Given the description of an element on the screen output the (x, y) to click on. 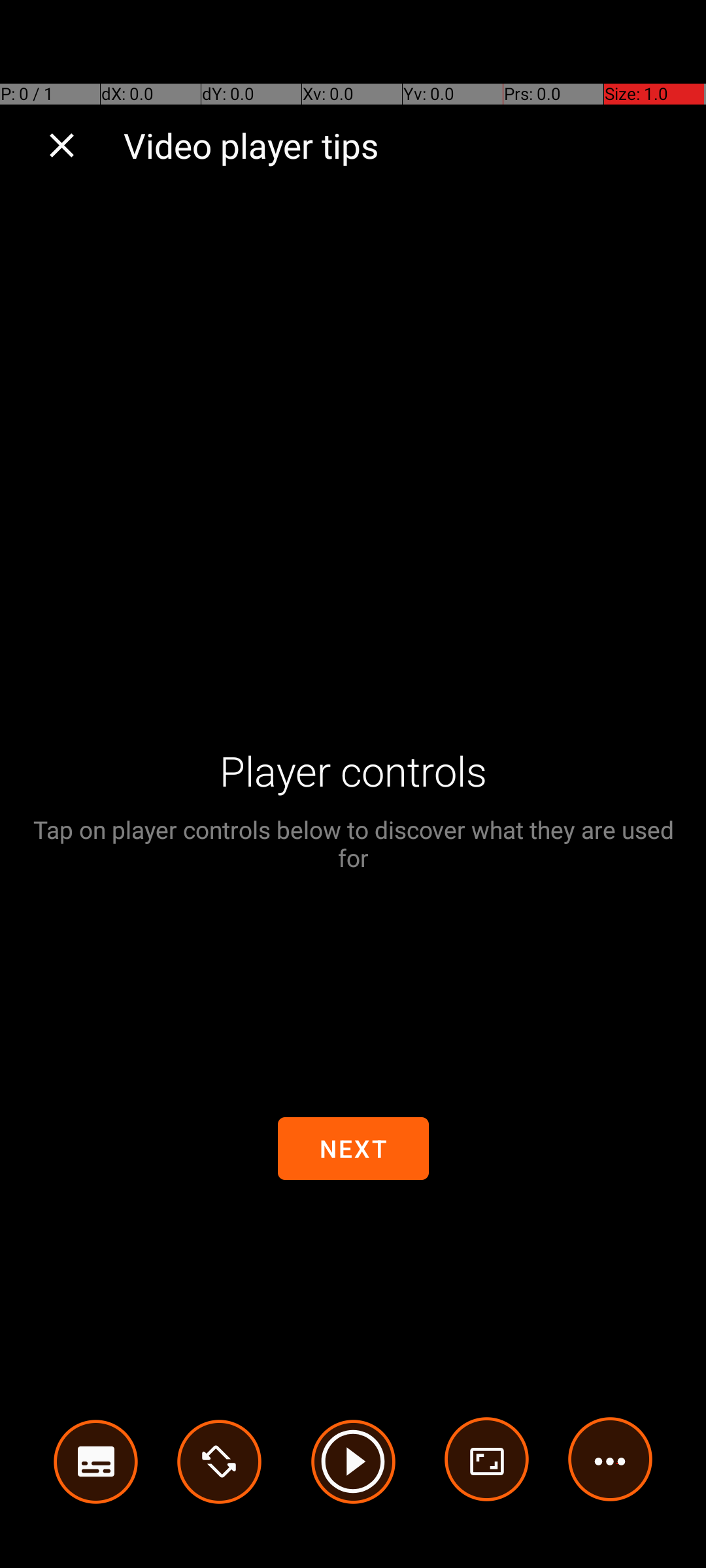
Video player. Tap to show controls. Tap the back button to hide them Element type: android.widget.FrameLayout (353, 784)
Video player tips Element type: android.widget.TextView (400, 145)
Player controls Element type: android.widget.TextView (353, 770)
Tap on player controls below to discover what they are used for Element type: android.widget.TextView (352, 843)
advanced options Element type: android.widget.ImageView (486, 1461)
